Given the description of an element on the screen output the (x, y) to click on. 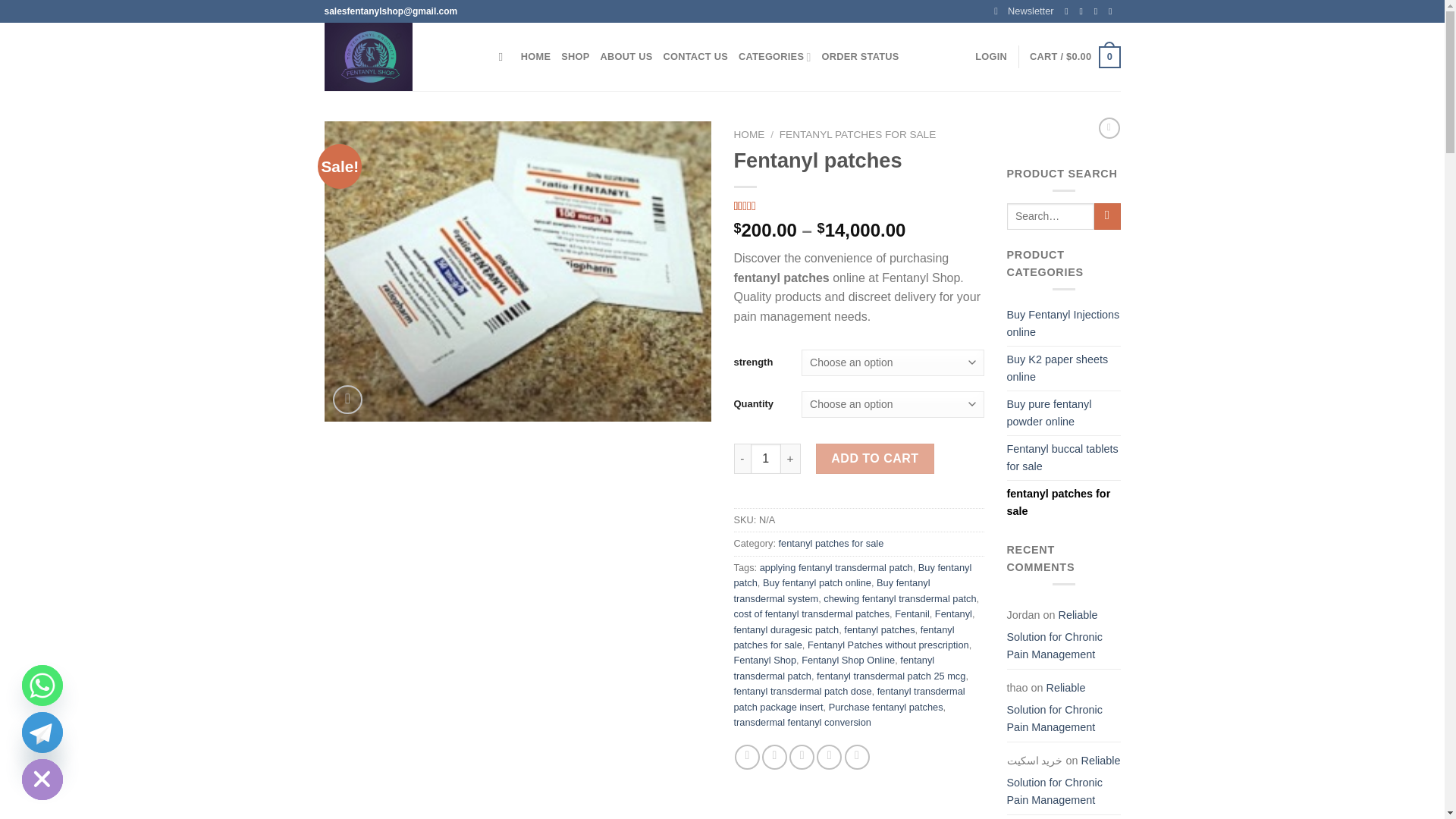
Newsletter (1023, 11)
Buy fentanyl patch online (816, 582)
fentanyl patches for sale (517, 271)
HOME (749, 134)
Cart (1074, 57)
1 (765, 458)
HOME (535, 56)
ABOUT US (625, 56)
SHOP (858, 205)
